Given the description of an element on the screen output the (x, y) to click on. 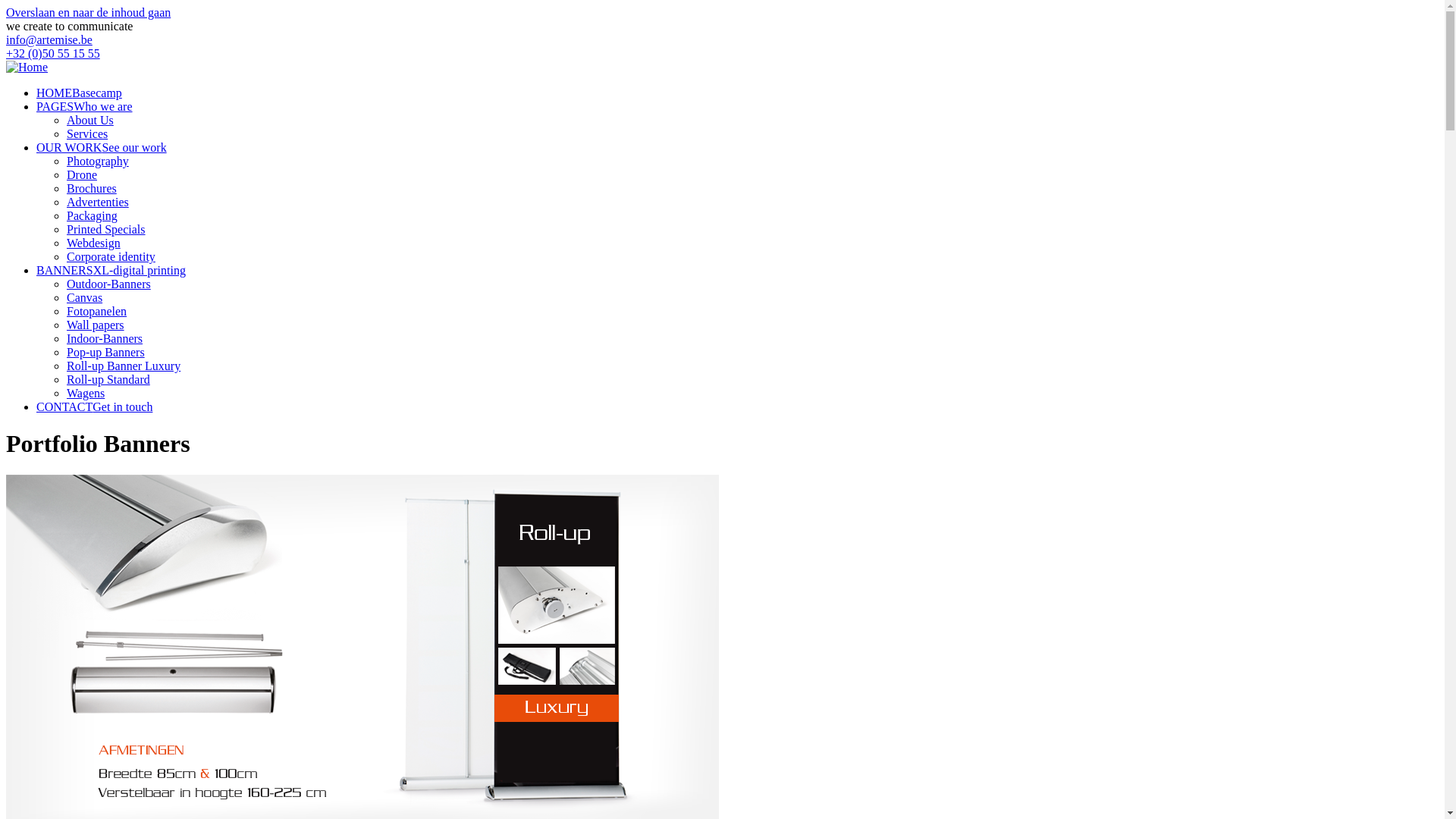
About Us Element type: text (89, 119)
+32 (0)50 55 15 55 Element type: text (53, 53)
Canvas Element type: text (84, 297)
Webdesign Element type: text (93, 242)
Drone Element type: text (81, 174)
Roll-up Banner Luxury Element type: text (123, 365)
Outdoor-Banners Element type: text (108, 283)
Wagens Element type: text (85, 392)
Wall papers Element type: text (95, 324)
Overslaan en naar de inhoud gaan Element type: text (88, 12)
Pop-up Banners Element type: text (105, 351)
Services Element type: text (86, 133)
Advertenties Element type: text (97, 201)
HOMEBasecamp Element type: text (79, 92)
PAGESWho we are Element type: text (84, 106)
Brochures Element type: text (91, 188)
info@artemise.be Element type: text (49, 39)
Roll-up Standard Element type: text (108, 379)
Indoor-Banners Element type: text (104, 338)
CONTACTGet in touch Element type: text (94, 406)
Photography Element type: text (97, 160)
Corporate identity Element type: text (110, 256)
Fotopanelen Element type: text (96, 310)
OUR WORKSee our work Element type: text (101, 147)
BANNERSXL-digital printing Element type: text (110, 269)
Printed Specials Element type: text (105, 228)
Packaging Element type: text (91, 215)
Home Element type: hover (26, 66)
